Given the description of an element on the screen output the (x, y) to click on. 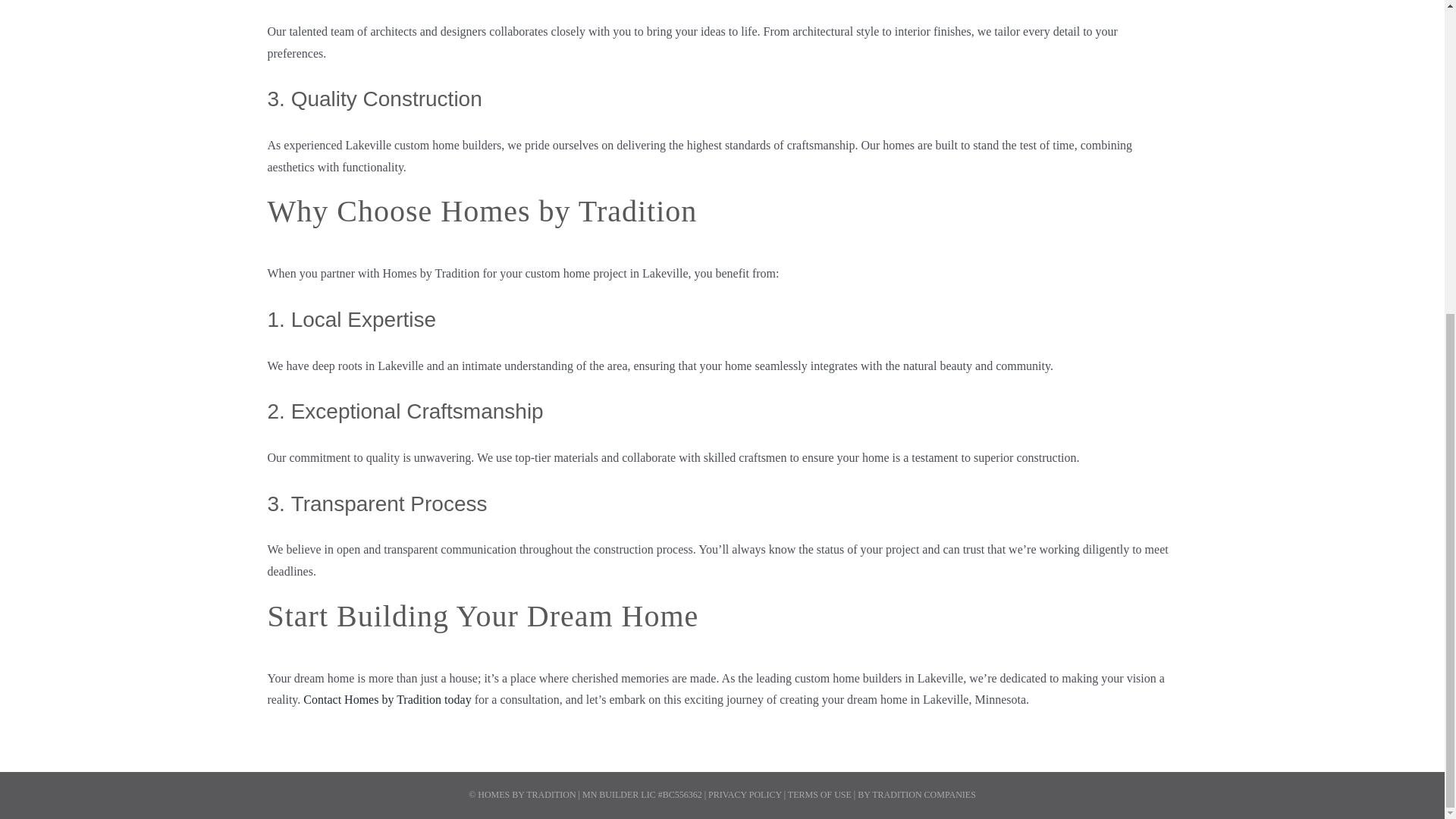
Contact Homes by Tradition today (386, 698)
TERMS OF USE (819, 794)
TRADITION COMPANIES (923, 794)
